Given the description of an element on the screen output the (x, y) to click on. 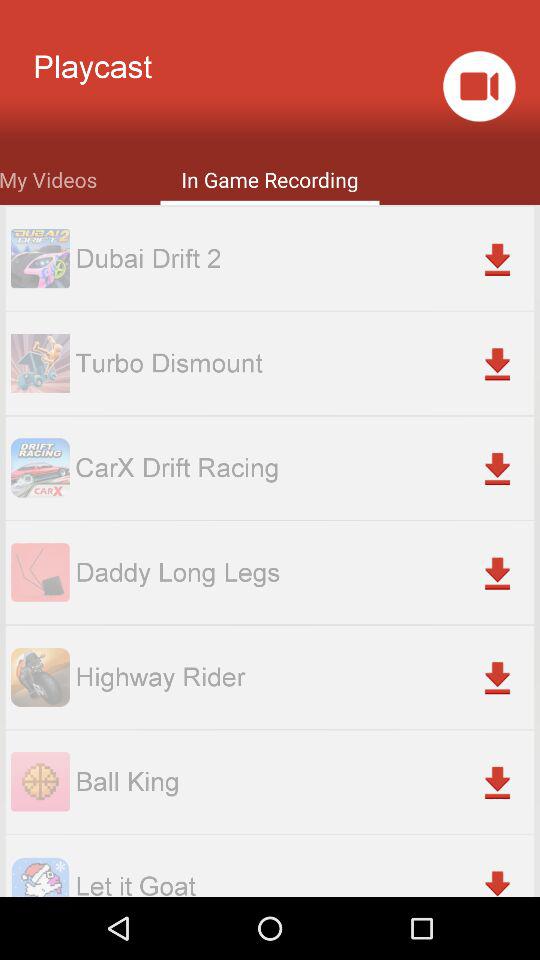
click the icon below my videos (304, 258)
